Given the description of an element on the screen output the (x, y) to click on. 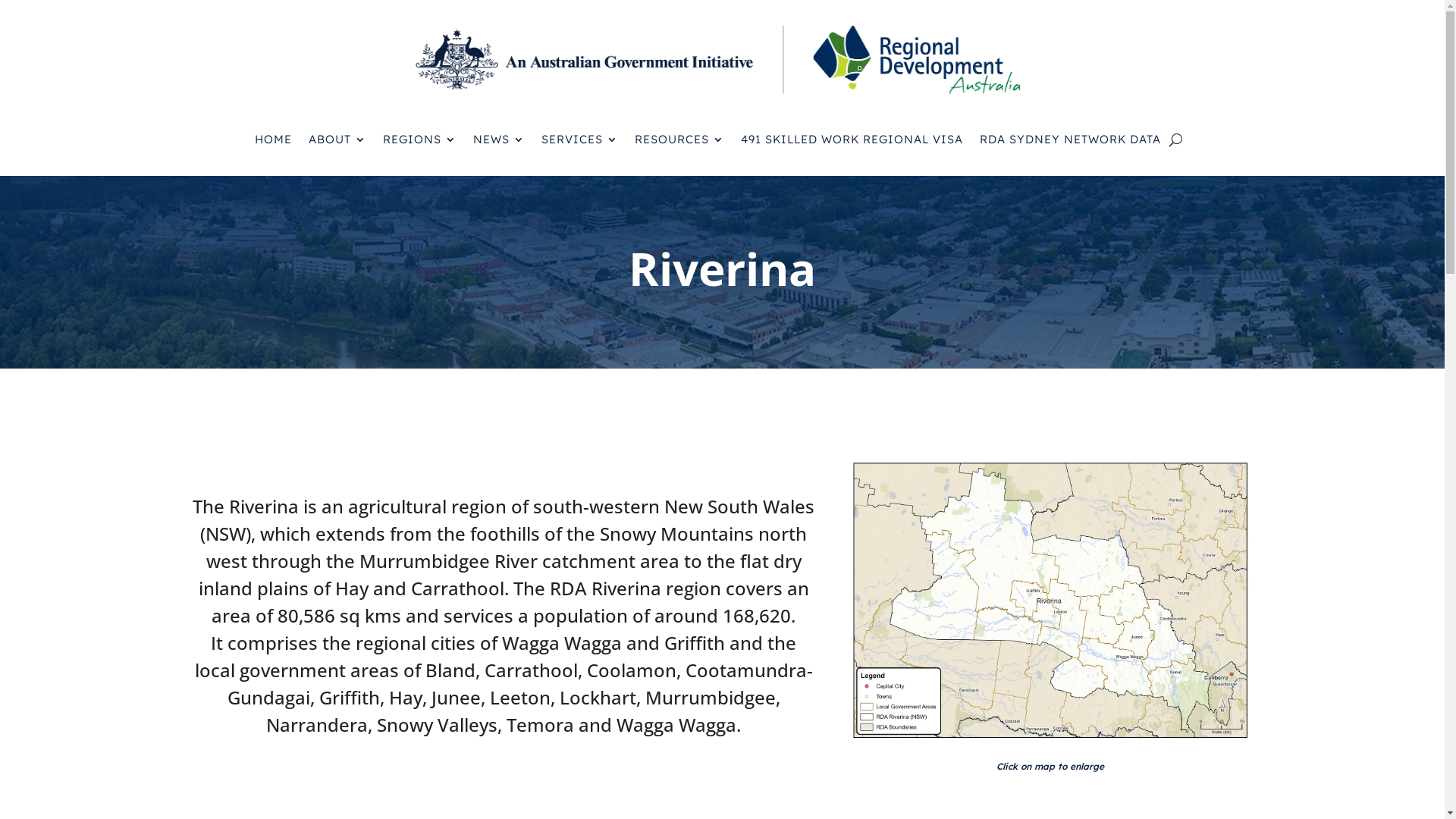
NEWS Element type: text (498, 139)
RESOURCES Element type: text (678, 139)
ABOUT Element type: text (336, 139)
RDA SYDNEY NETWORK DATA Element type: text (1070, 139)
SERVICES Element type: text (579, 139)
RDA042-Riverina-(NSW)-map Element type: hover (1050, 739)
HOME Element type: text (272, 139)
REGIONS Element type: text (418, 139)
RDA042-Riverina-(NSW)-map Element type: hover (1050, 600)
491 SKILLED WORK REGIONAL VISA Element type: text (851, 139)
